Given the description of an element on the screen output the (x, y) to click on. 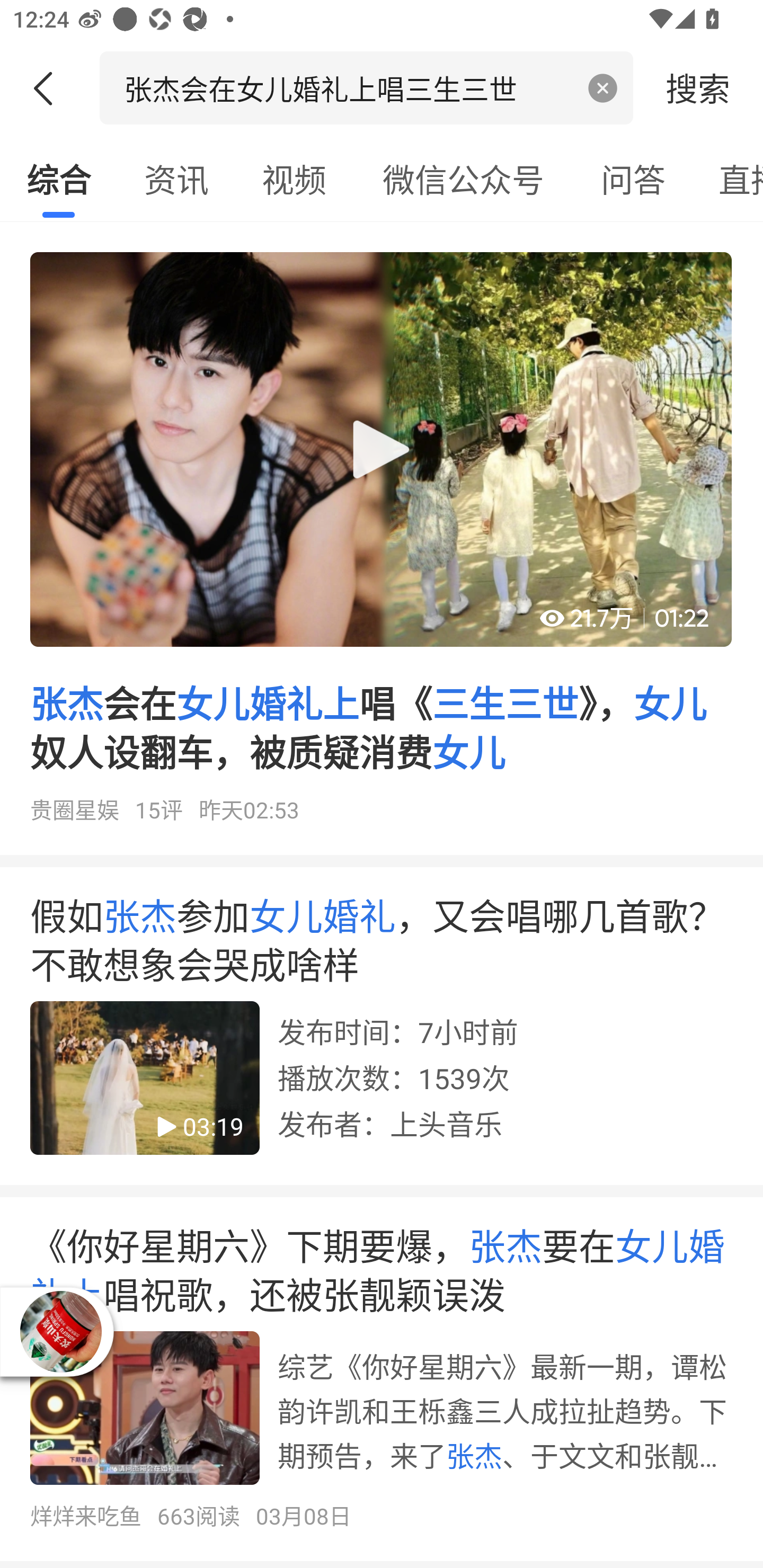
返回 (49, 87)
搜索 (698, 87)
张杰会在女儿婚礼上唱三生三世 (347, 87)
清空 (602, 88)
已选中综合 (58, 179)
资讯，可选中 (176, 179)
视频，可选中 (293, 179)
微信公众号，可选中 (463, 179)
问答，可选中 (633, 179)
张杰会在女儿婚礼上唱《三生三世》，女儿奴人设翻车，被质疑消费女儿 (381, 544)
假如张杰参加女儿婚礼，又会唱哪几首歌？不敢想象会哭成啥样 (381, 1032)
播放器 (61, 1331)
